Given the description of an element on the screen output the (x, y) to click on. 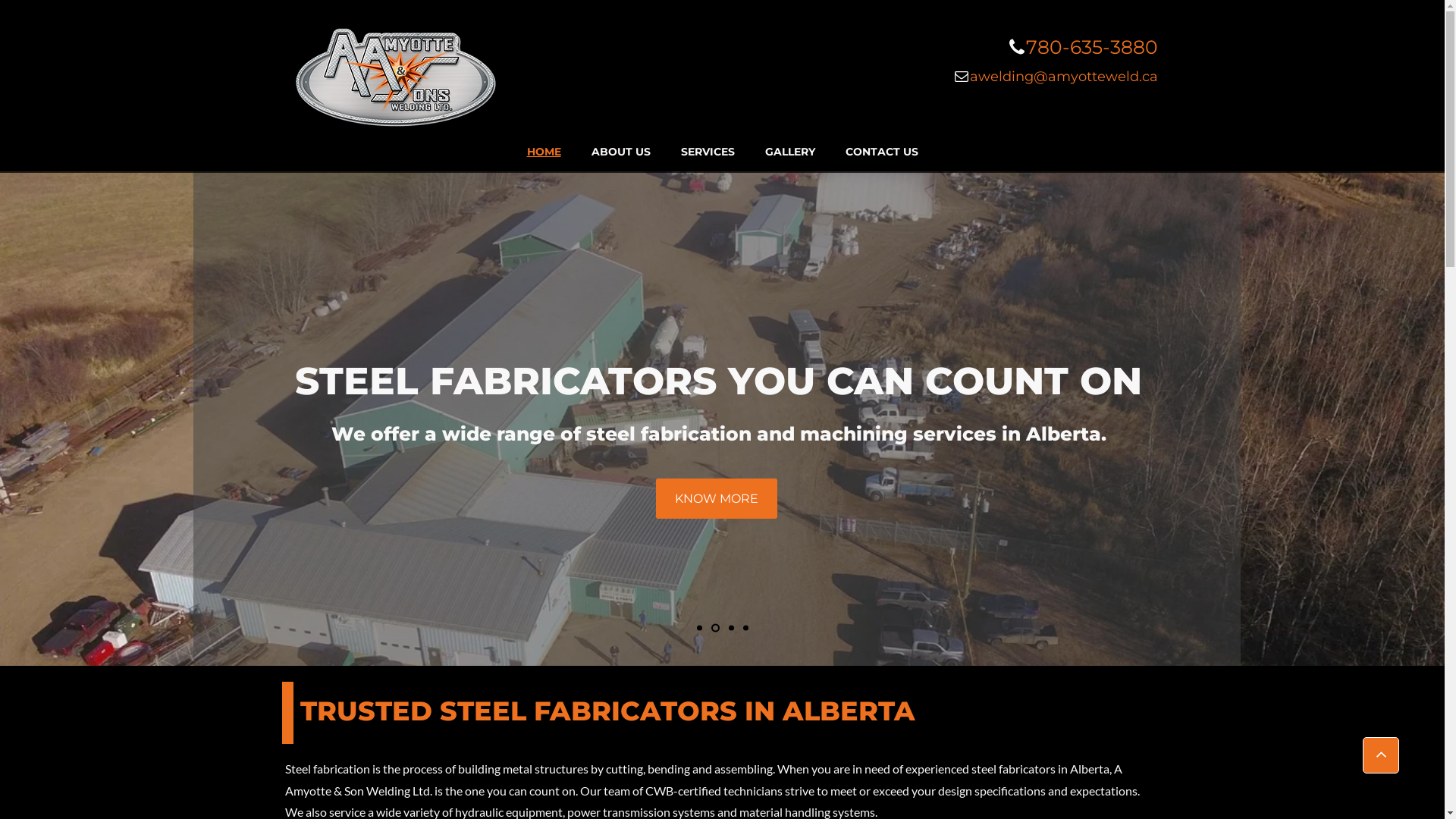
CONTACT US Element type: text (880, 151)
SERVICES Element type: text (707, 151)
780-635-3880 Element type: text (1091, 46)
GALLERY Element type: text (789, 151)
KNOW MORE Element type: text (1080, 497)
awelding@amyotteweld.ca Element type: text (1063, 76)
HOME Element type: text (543, 151)
ABOUT US Element type: text (620, 151)
